Given the description of an element on the screen output the (x, y) to click on. 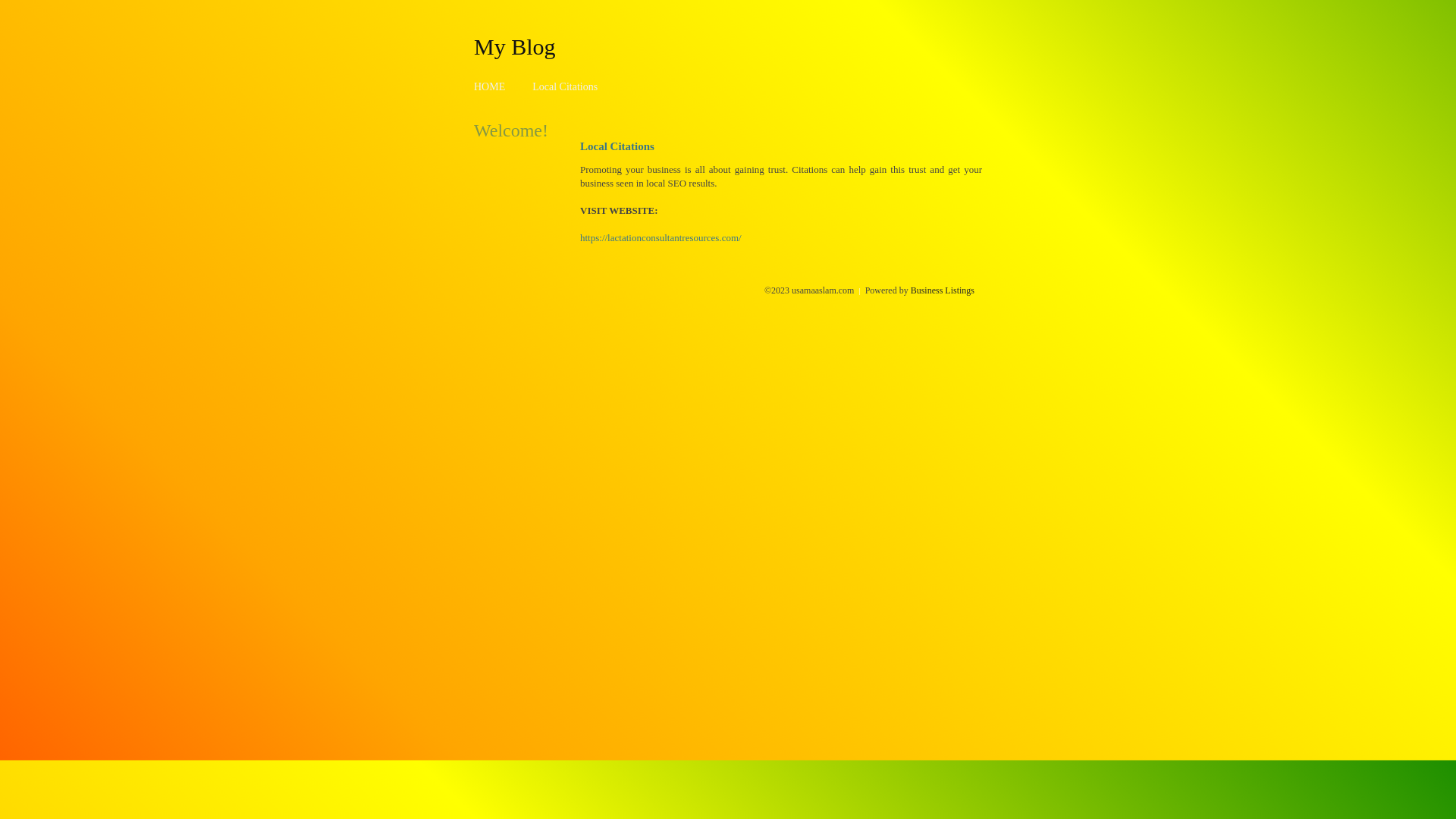
https://lactationconsultantresources.com/ Element type: text (660, 237)
HOME Element type: text (489, 86)
Local Citations Element type: text (564, 86)
My Blog Element type: text (514, 46)
Business Listings Element type: text (942, 290)
